Given the description of an element on the screen output the (x, y) to click on. 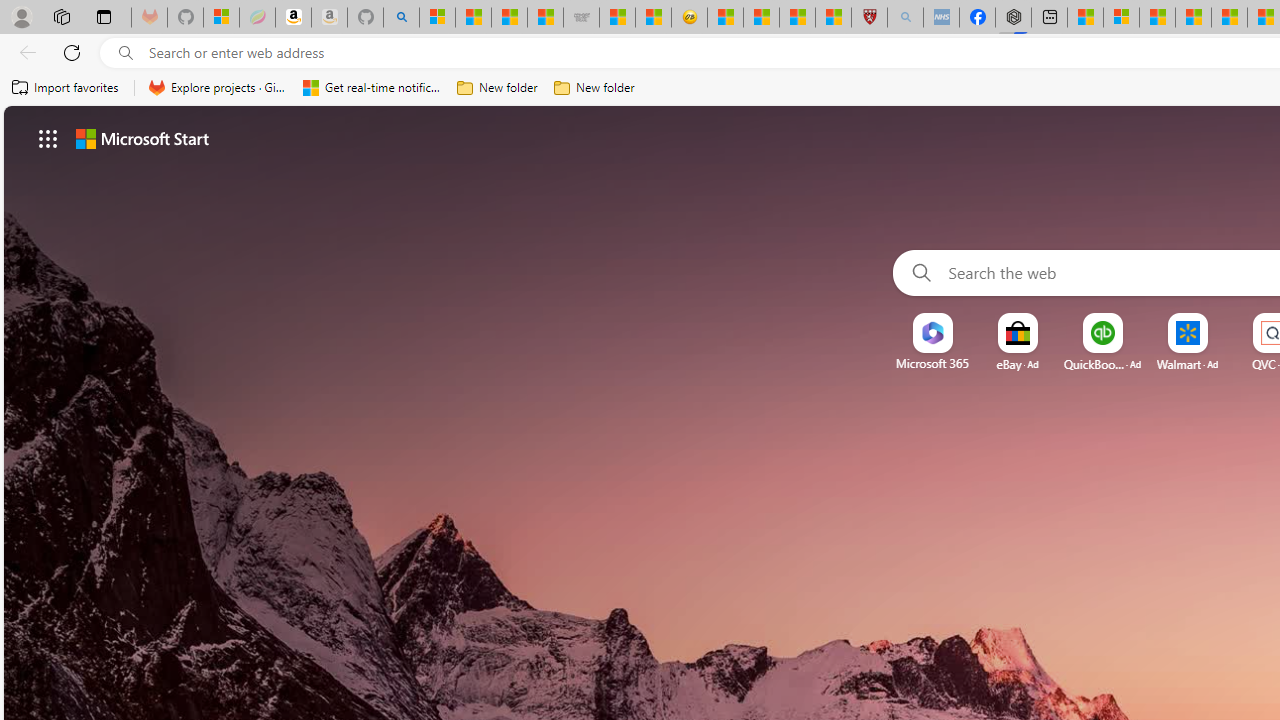
Import favorites (65, 88)
New folder (594, 88)
